Given the description of an element on the screen output the (x, y) to click on. 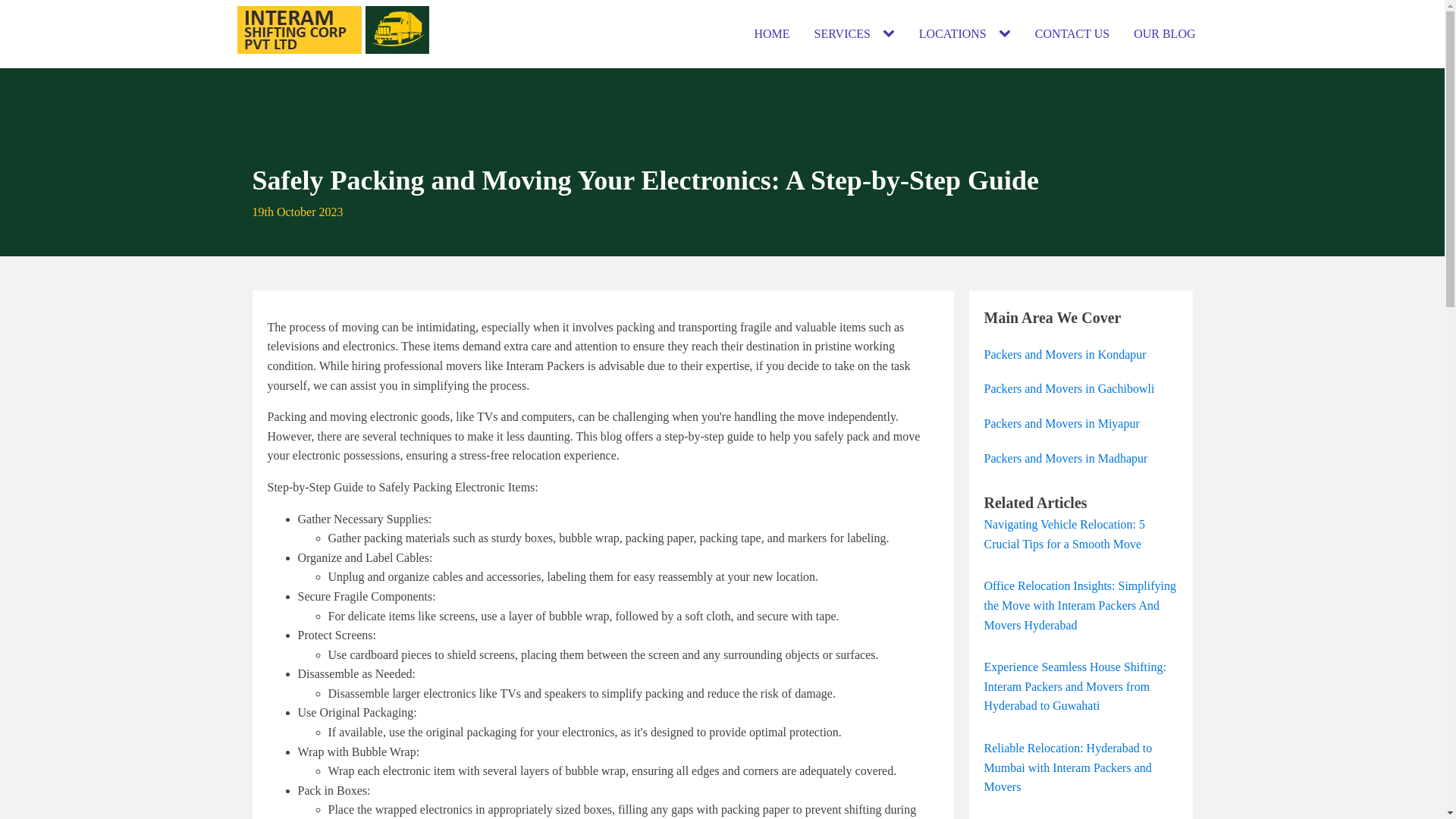
Packers and Movers in Madhapur (1066, 458)
OUR BLOG (1164, 33)
CONTACT US (1072, 33)
HOME (771, 33)
SERVICES (842, 33)
Packers and Movers in Kondapur (1065, 354)
LOCATIONS (952, 33)
Packers and Movers in Gachibowli (1069, 388)
Packers and Movers in Miyapur (1062, 424)
